Given the description of an element on the screen output the (x, y) to click on. 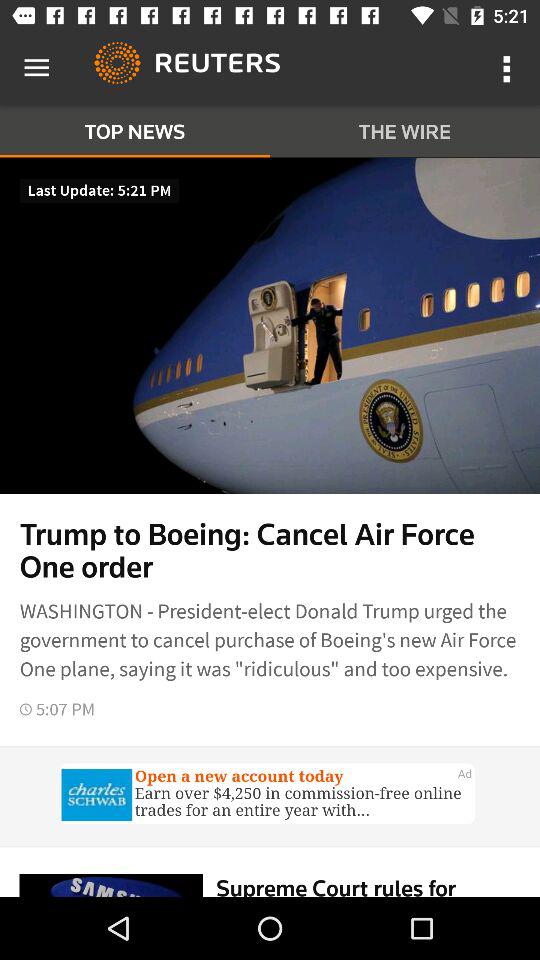
advertisement (270, 796)
